Given the description of an element on the screen output the (x, y) to click on. 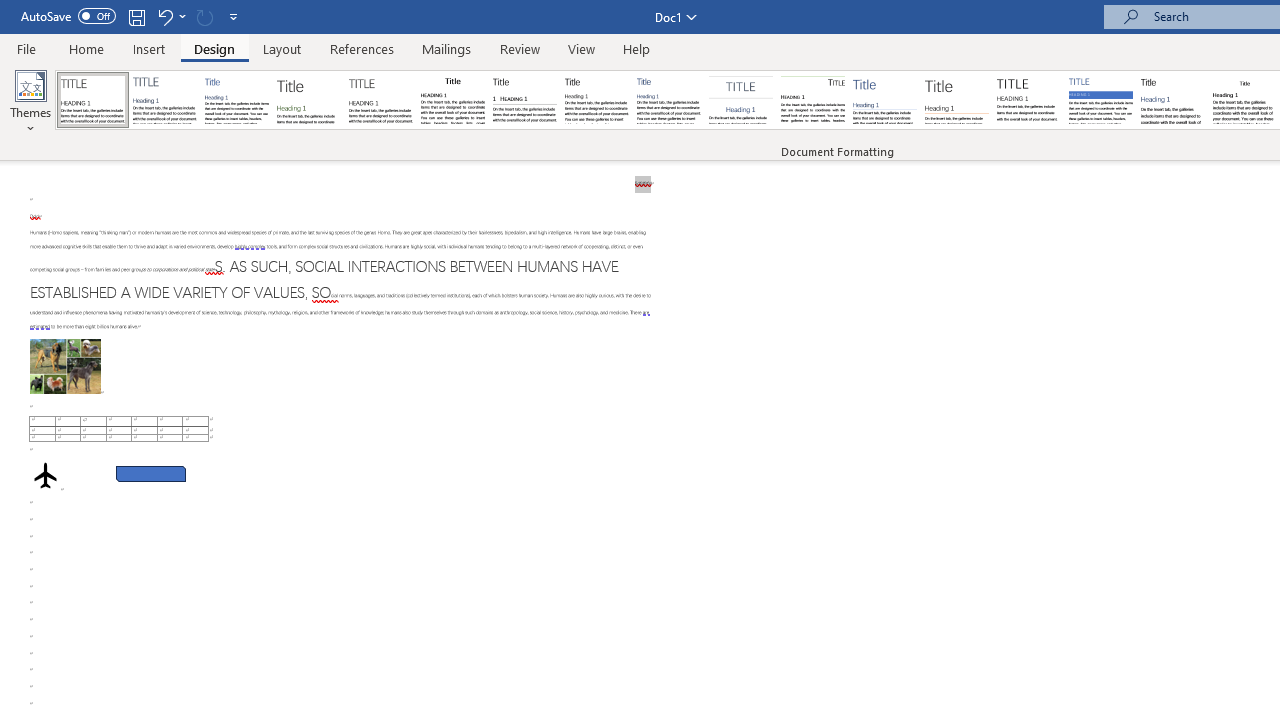
Black & White (Word 2013) (596, 100)
Airplane with solid fill (45, 475)
Rectangle: Diagonal Corners Snipped 2 (150, 473)
Can't Repeat (204, 15)
Lines (Simple) (884, 100)
Basic (Stylish) (308, 100)
Basic (Elegant) (164, 100)
